Given the description of an element on the screen output the (x, y) to click on. 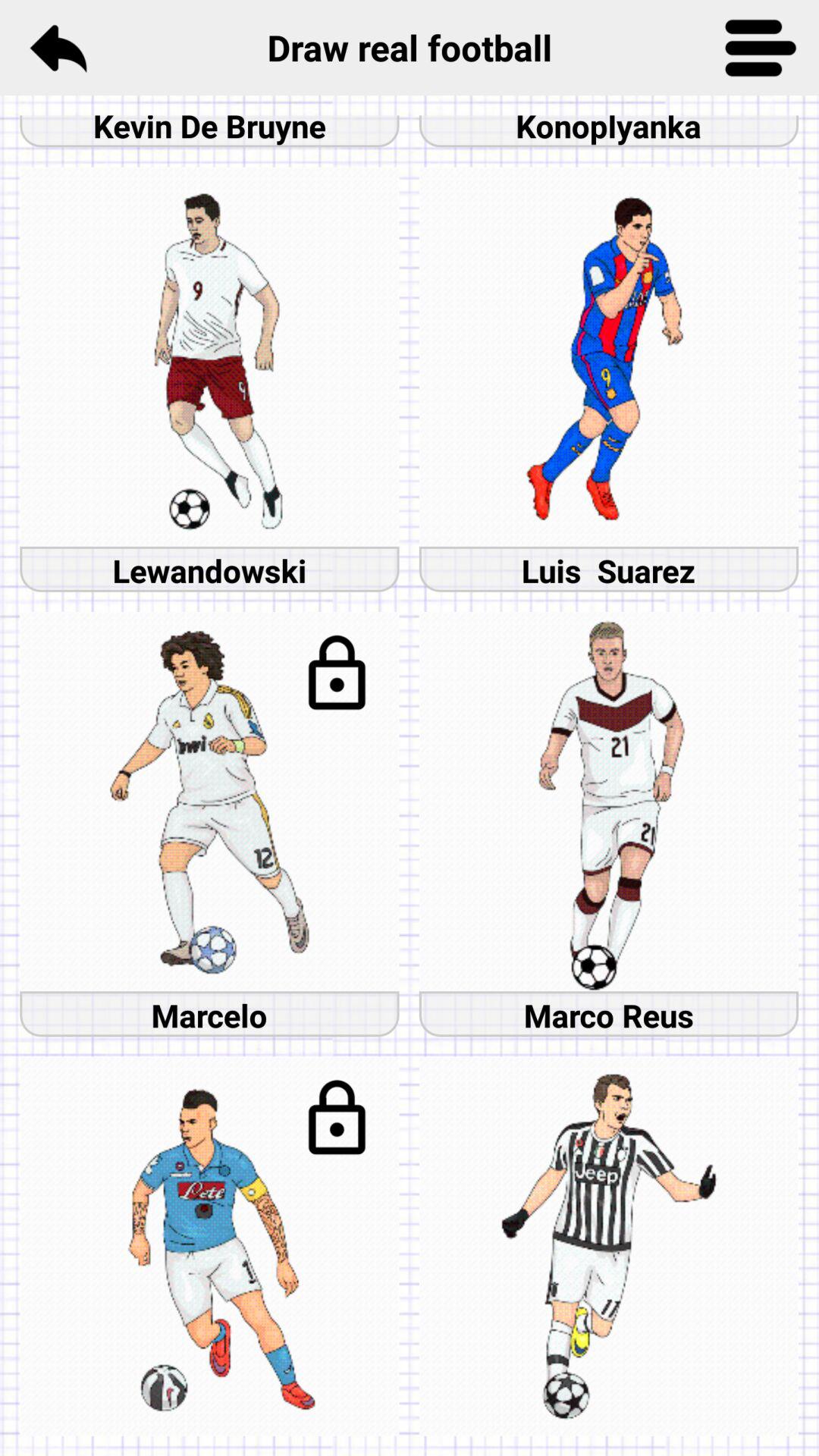
launch item above the konoplyanka item (760, 47)
